Given the description of an element on the screen output the (x, y) to click on. 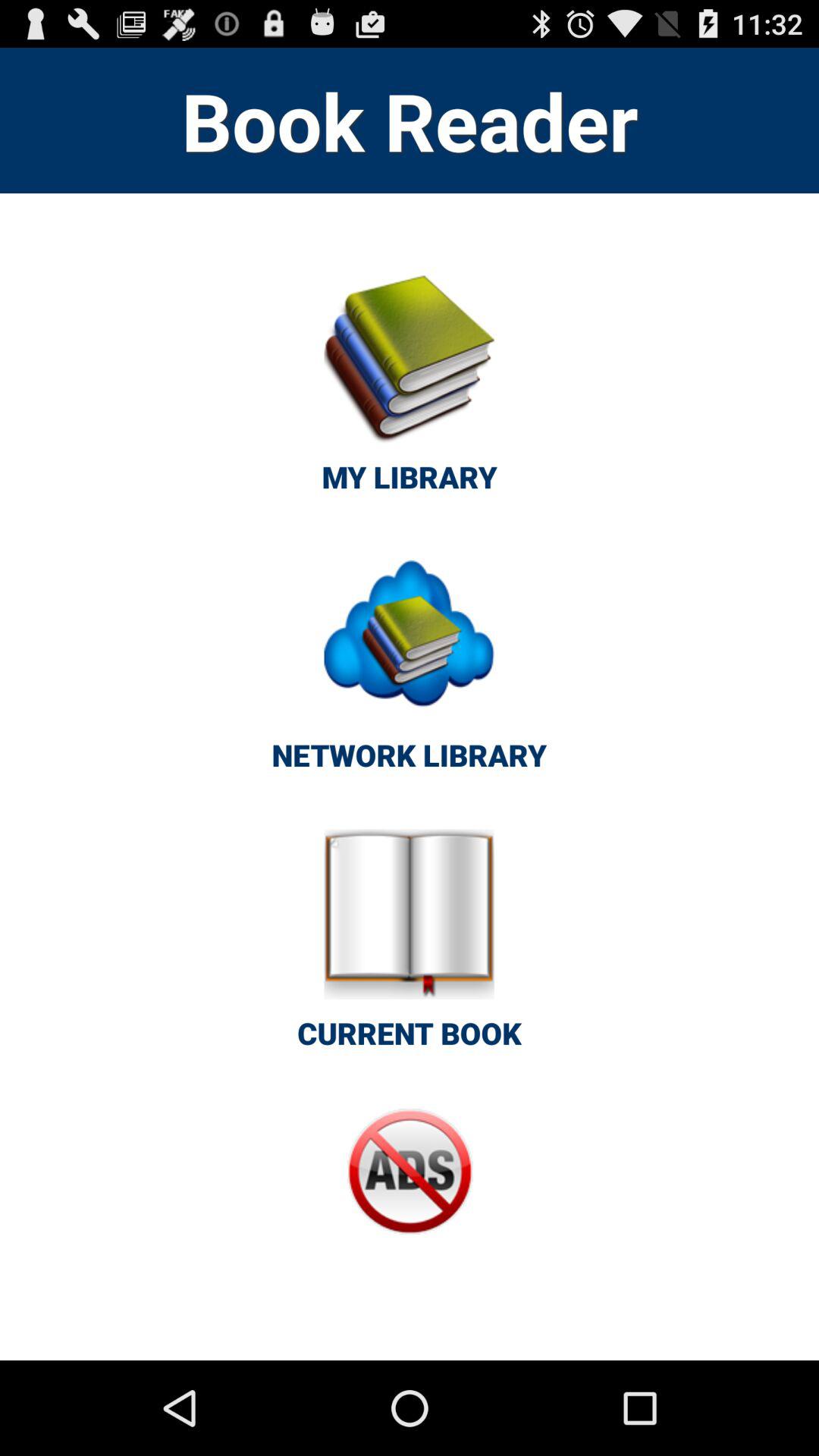
launch the current book (409, 948)
